Given the description of an element on the screen output the (x, y) to click on. 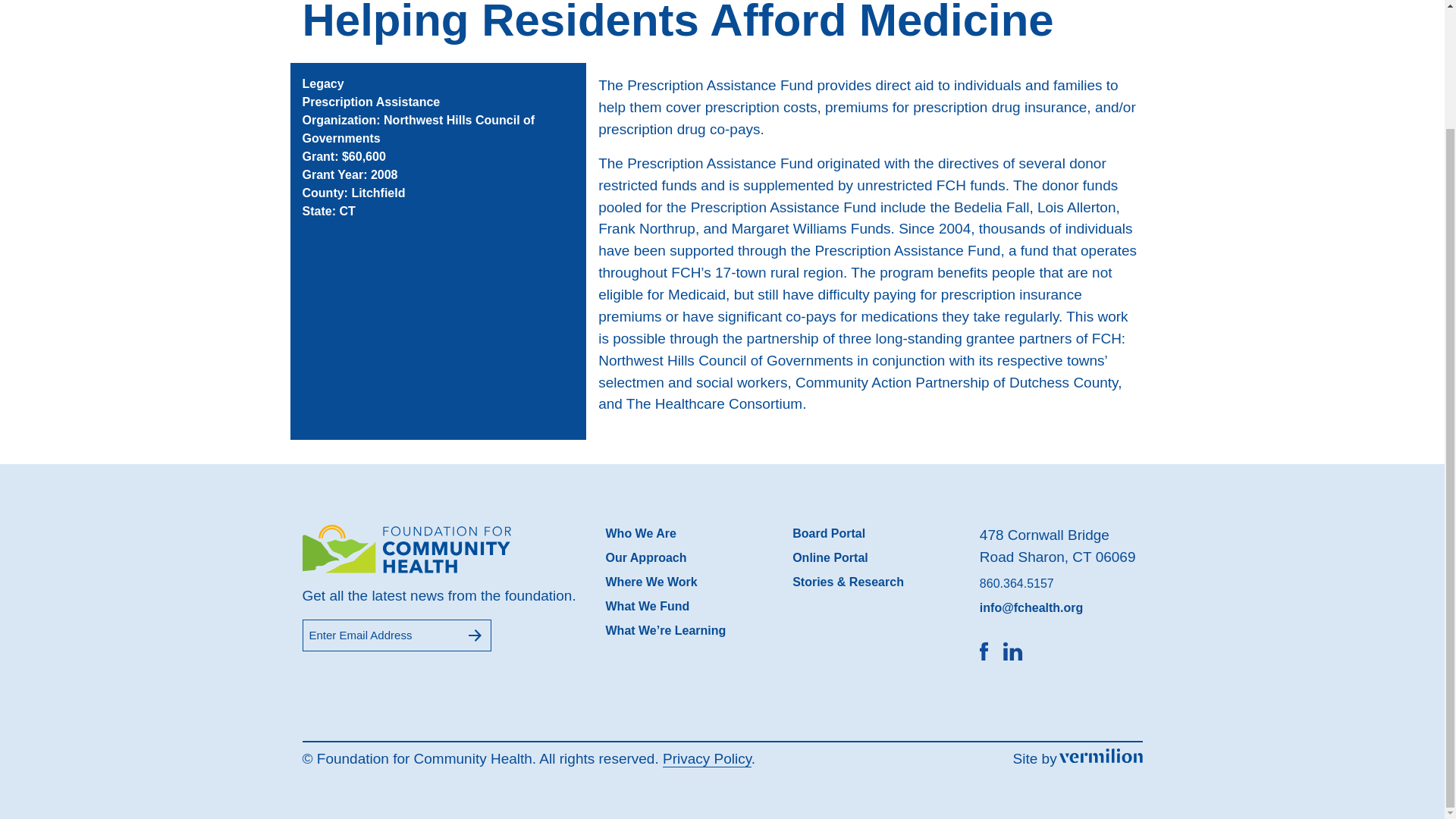
View the Vermilion site (1100, 755)
View the Foundation for Community Health Facebook page  (989, 650)
View the Foundation for Community Health LinkedIn page  (1018, 650)
